Given the description of an element on the screen output the (x, y) to click on. 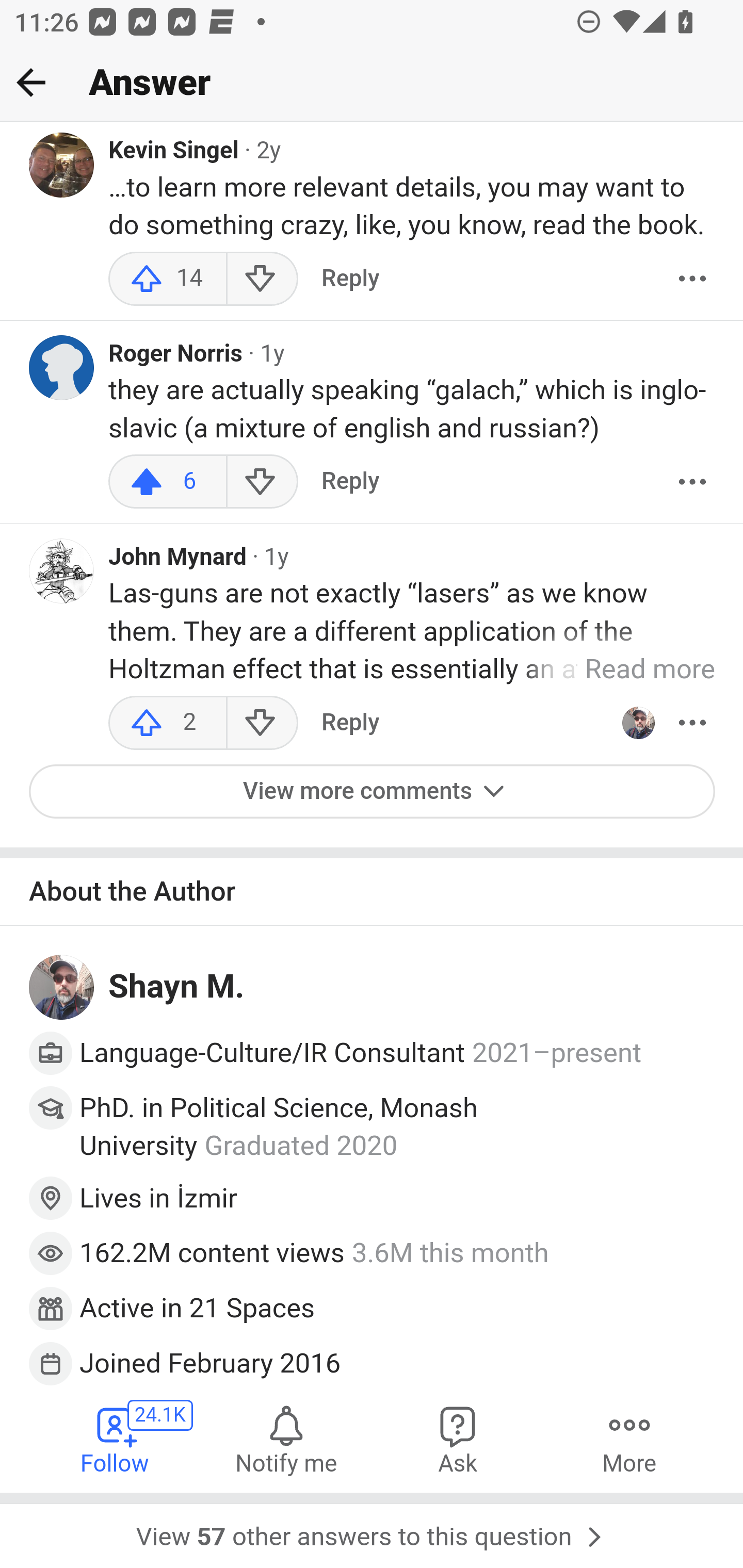
Back (30, 82)
Profile photo for Kevin Singel (61, 166)
Kevin Singel (173, 152)
14 upvotes (167, 279)
Downvote (261, 279)
Reply (350, 279)
More (691, 279)
Profile photo for Roger Norris (61, 368)
Roger Norris (175, 355)
6 upvotes (167, 482)
Downvote (261, 482)
Reply (350, 482)
More (691, 482)
Profile photo for John Mynard (61, 571)
John Mynard (177, 558)
2 upvotes (167, 723)
Downvote (261, 723)
Reply (350, 723)
Profile photo for Shayn M. (638, 723)
More (691, 723)
View more comments (372, 792)
Profile photo for Shayn M. (61, 987)
Shayn M. (176, 987)
Follow Shayn M. 24.1K Follow (115, 1440)
Notify me (285, 1440)
Ask (458, 1440)
More (628, 1440)
View 57 other answers to this question (371, 1531)
